Given the description of an element on the screen output the (x, y) to click on. 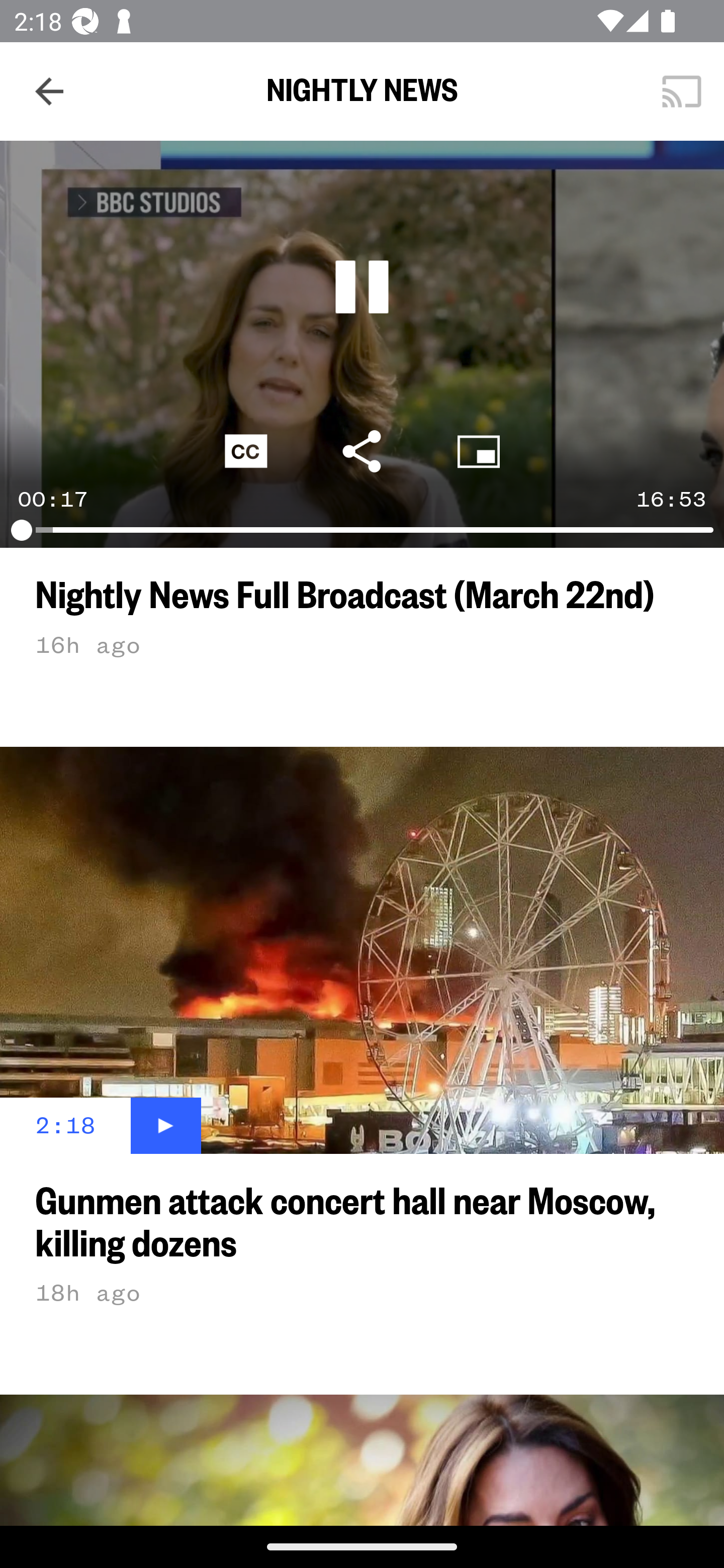
Navigate up (49, 91)
Cast. Disconnected (681, 90)
Pause (361, 286)
Closed Captions, OFF (244, 450)
Share Media (361, 450)
Picture in Picture Media (478, 450)
